Given the description of an element on the screen output the (x, y) to click on. 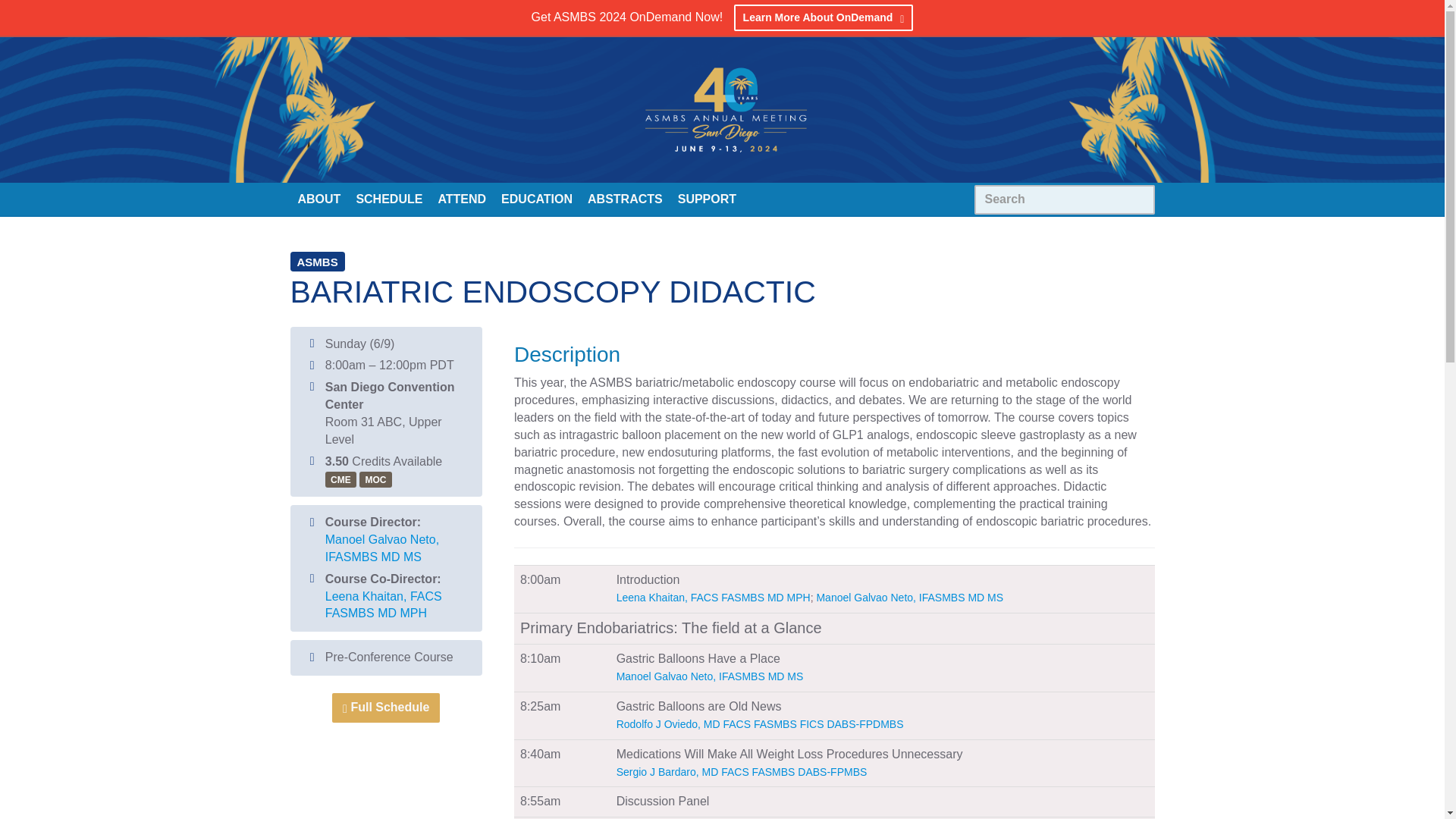
ABOUT (318, 198)
Manoel Galvao Neto, IFASMBS MD MS (381, 548)
SCHEDULE (388, 198)
Learn More About OnDemand (823, 17)
Leena Khaitan, FACS FASMBS MD MPH (383, 604)
ABSTRACTS (624, 198)
Full Schedule (385, 707)
EDUCATION (536, 198)
SUPPORT (706, 198)
ATTEND (461, 198)
